Given the description of an element on the screen output the (x, y) to click on. 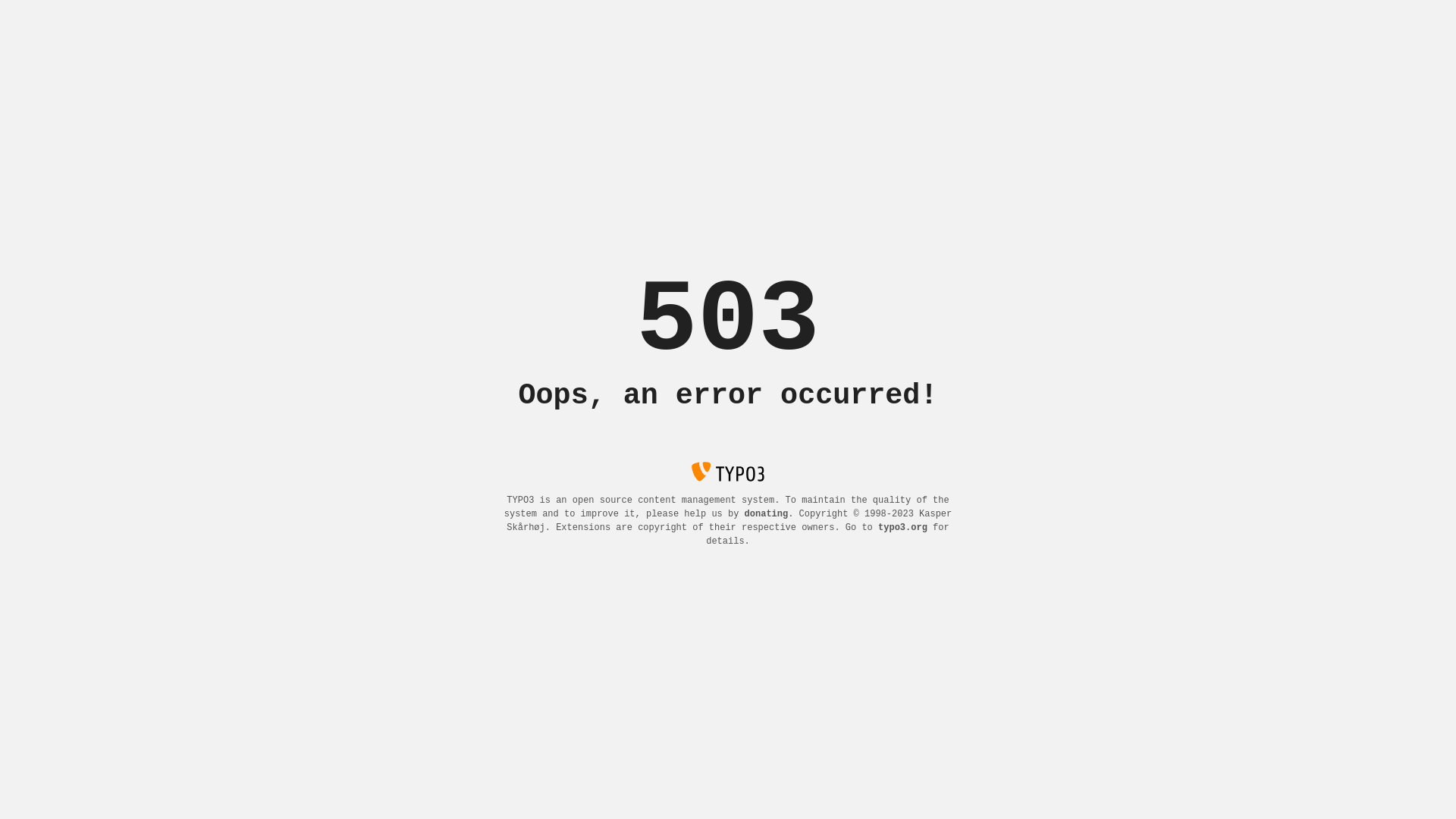
typo3.org Element type: text (902, 527)
donating Element type: text (766, 513)
